Given the description of an element on the screen output the (x, y) to click on. 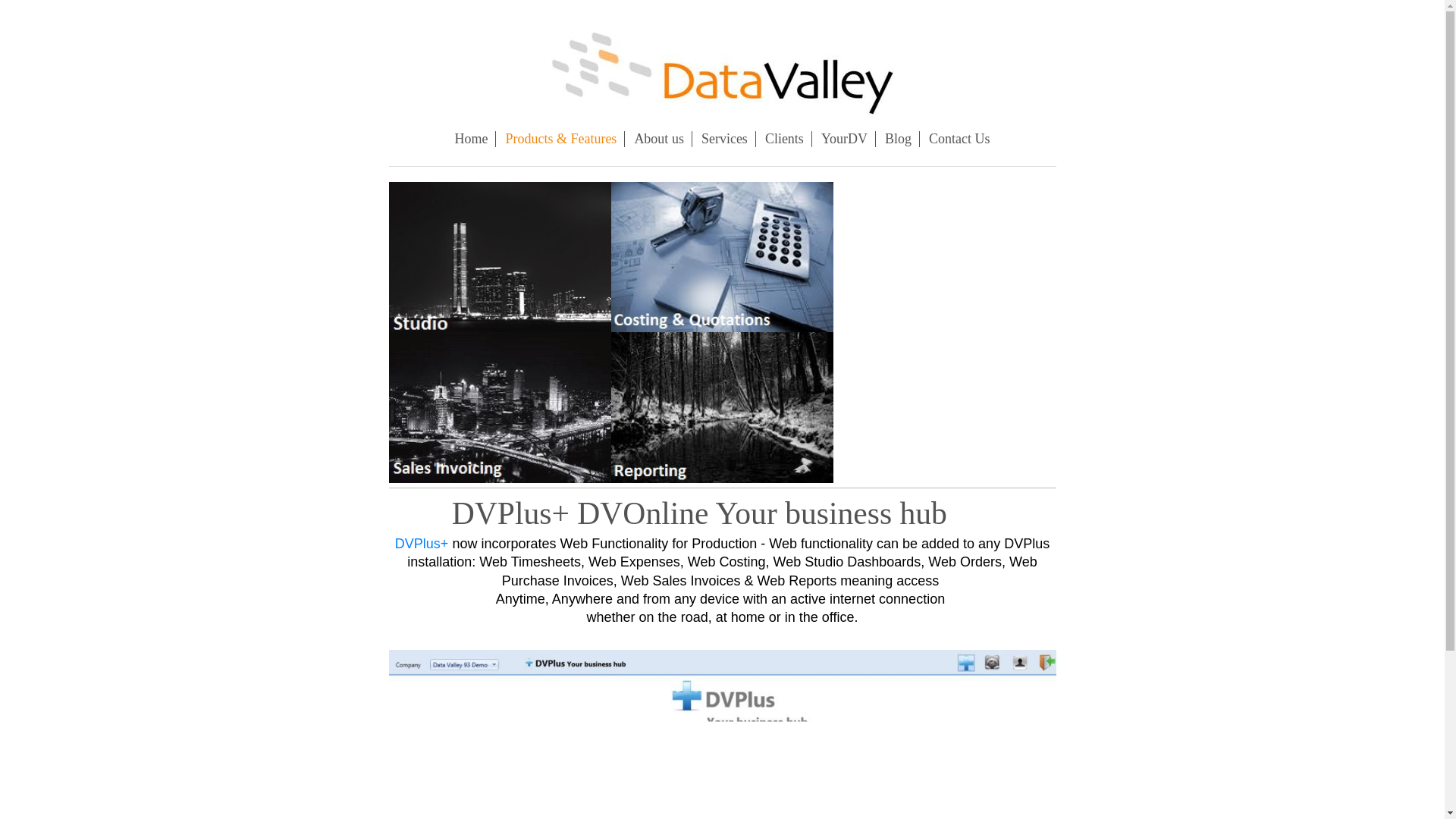
Services (724, 139)
Clients (784, 139)
YourDV (844, 139)
Home (471, 139)
About us (659, 139)
Blog (898, 139)
